Given the description of an element on the screen output the (x, y) to click on. 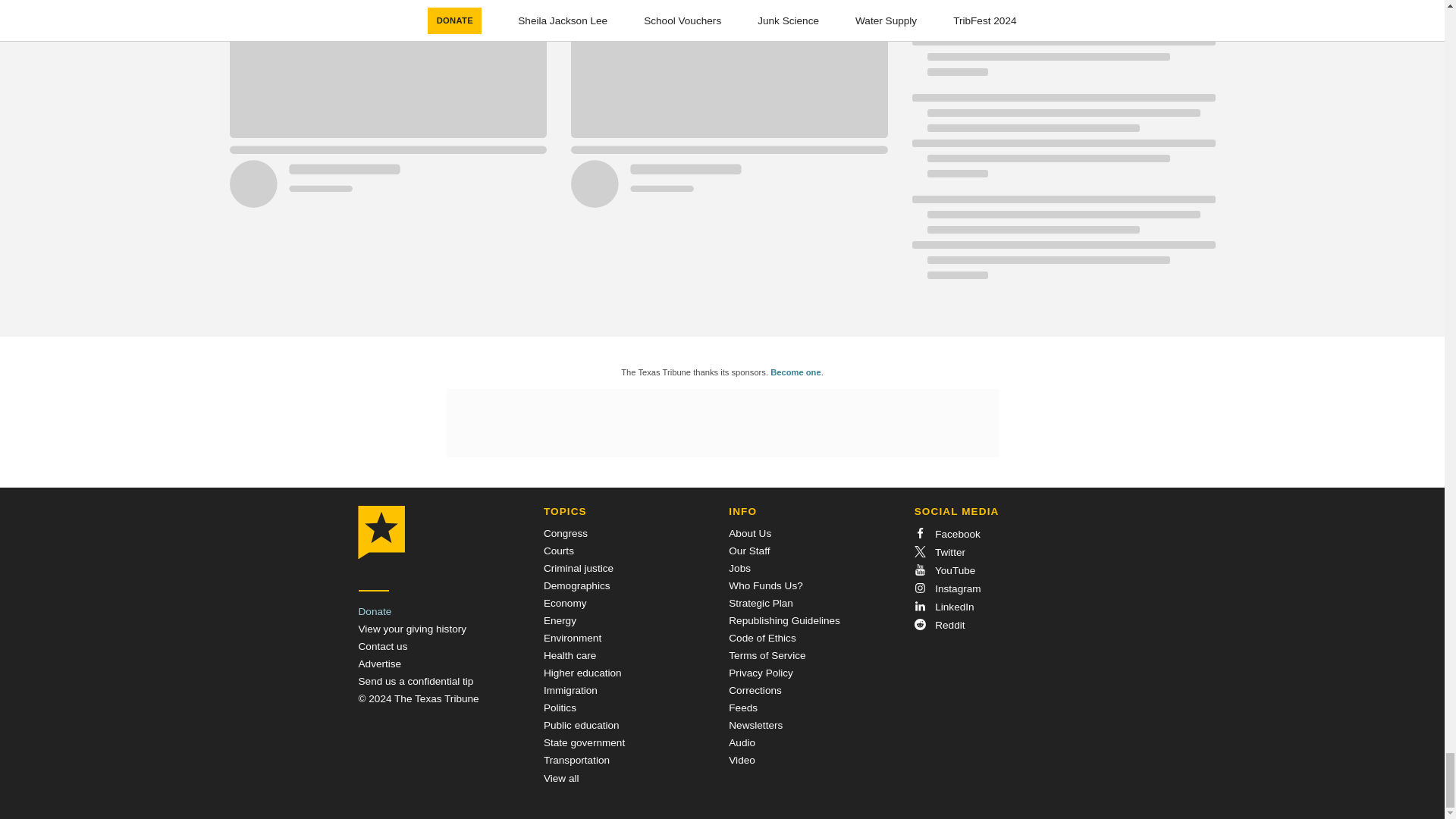
Terms of Service (767, 655)
View your giving history (411, 628)
Privacy Policy (761, 672)
Newsletters (756, 725)
About Us (750, 532)
Corrections (755, 690)
Video (742, 759)
Audio (742, 742)
Republishing Guidelines (784, 620)
Who Funds Us? (765, 585)
Facebook (946, 533)
Code of Ethics (761, 637)
Strategic Plan (761, 603)
Donate (374, 611)
Feeds (743, 707)
